Given the description of an element on the screen output the (x, y) to click on. 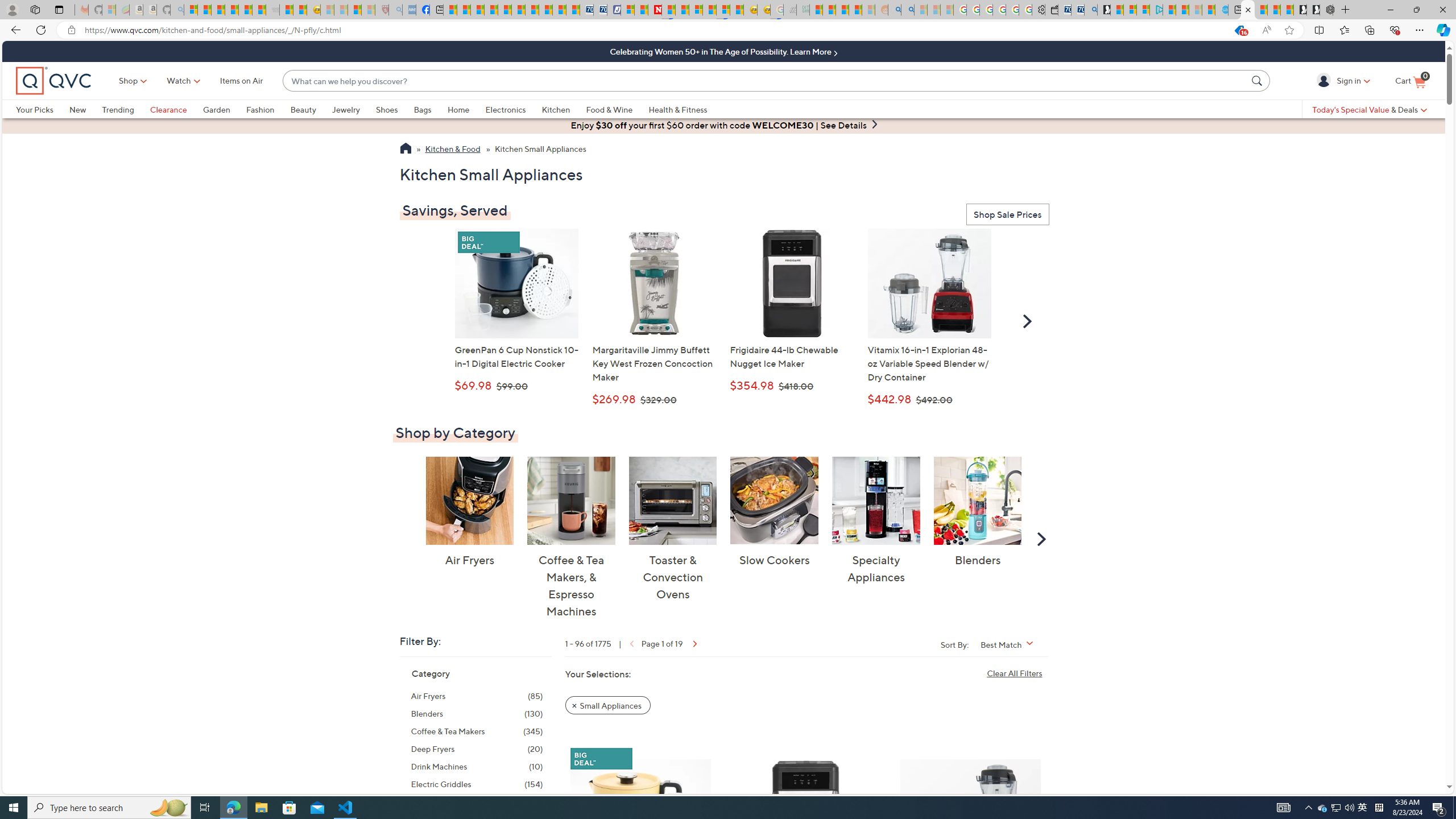
Jewelry (345, 109)
Slow Cookers (774, 500)
Fashion (260, 109)
Cart is Empty  (1409, 81)
New Report Confirms 2023 Was Record Hot | Watch (245, 9)
Specialty Appliances (875, 500)
